Given the description of an element on the screen output the (x, y) to click on. 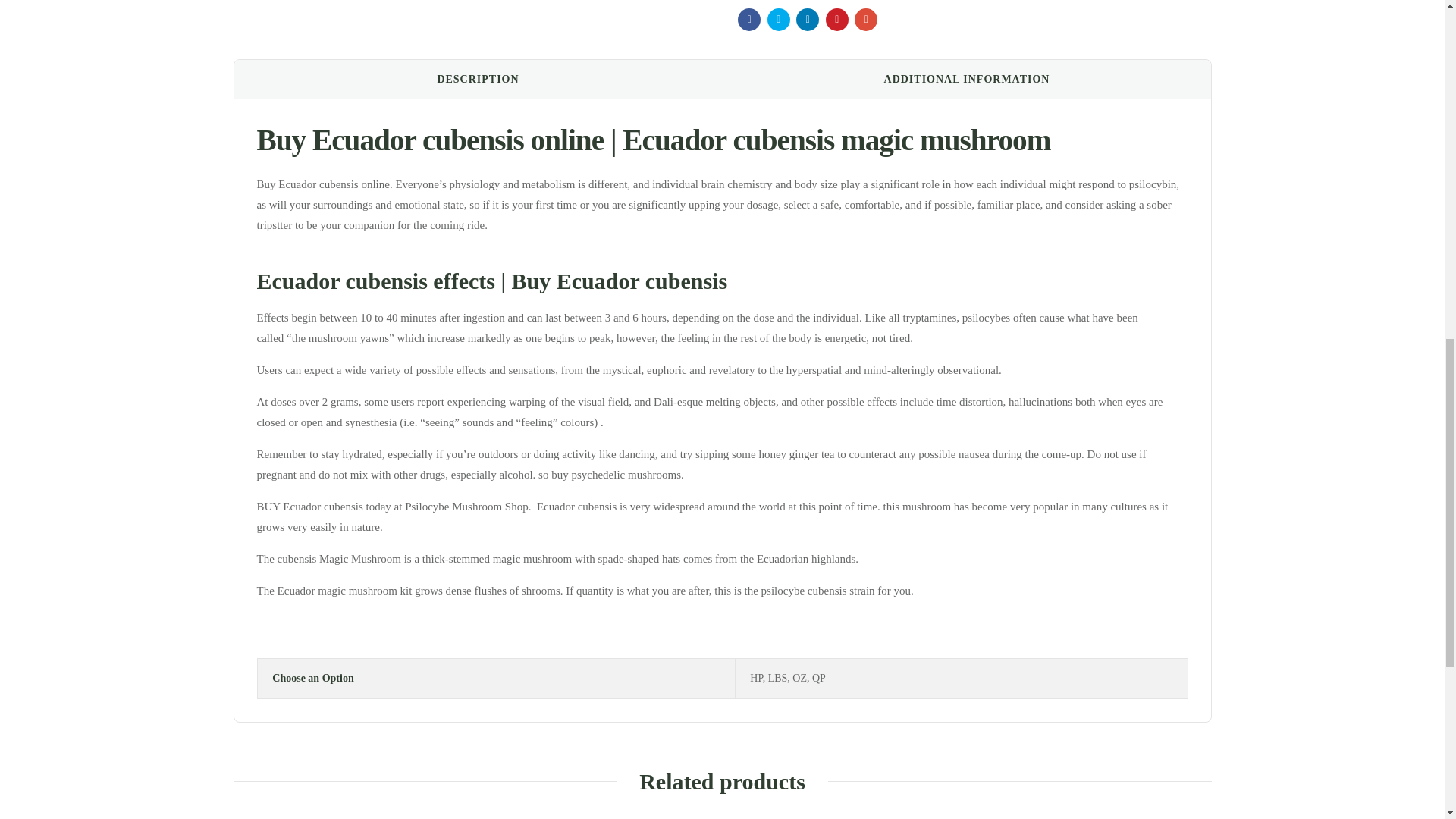
DESCRIPTION (477, 79)
Share on LinkedIn (807, 19)
Share on facebook (749, 19)
Share on Twitter (778, 19)
Share on Pinterest (836, 19)
Linkedin (807, 19)
Email to a Friend (865, 19)
Twitter (778, 19)
Facebook (749, 19)
ADDITIONAL INFORMATION (965, 79)
